Given the description of an element on the screen output the (x, y) to click on. 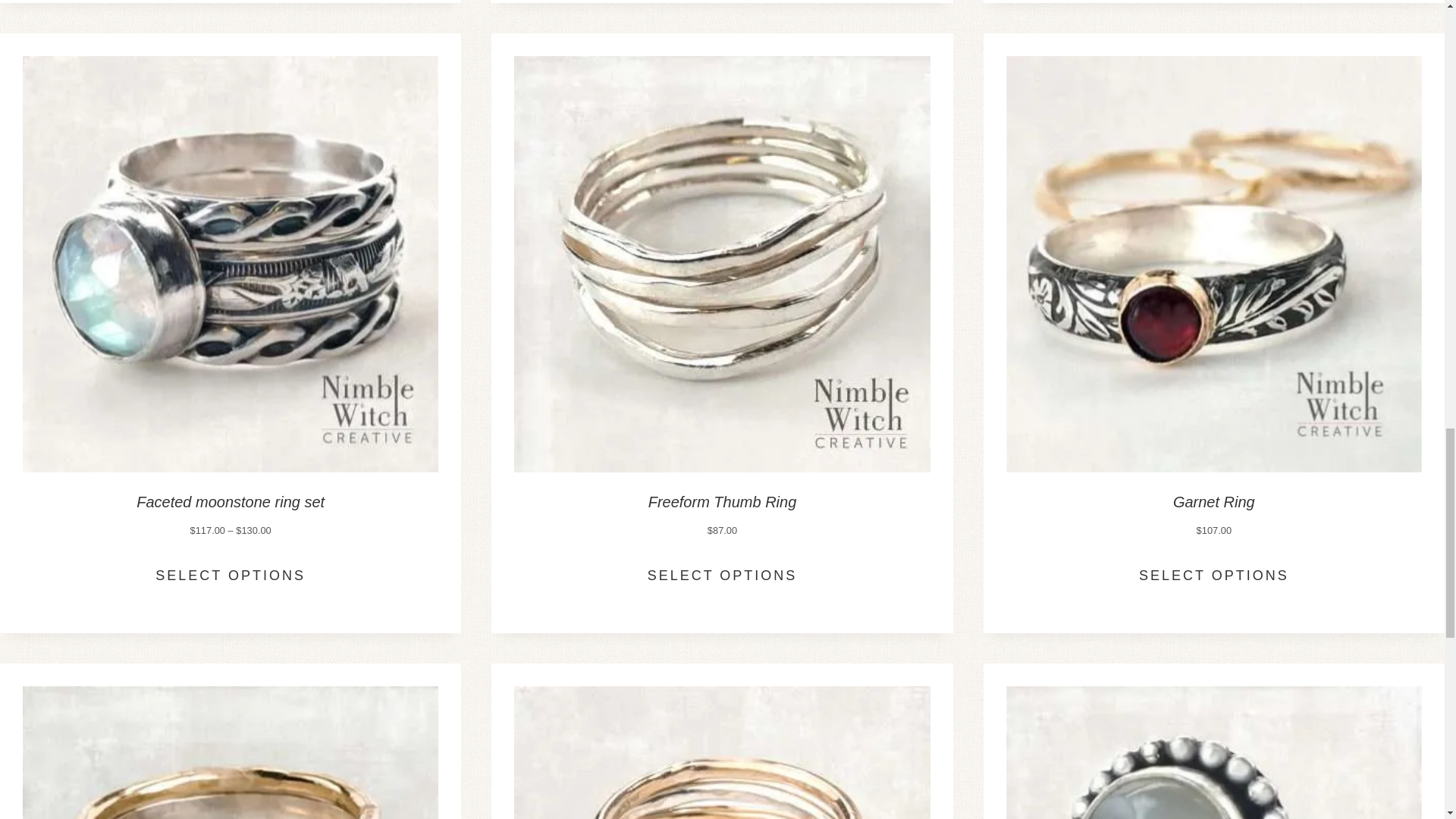
SELECT OPTIONS (230, 575)
new-moonface-ring-4 (1214, 752)
Faceted moonstone ring set (230, 501)
garnet-ringset-E (230, 752)
mix-metal-stack-rings-6 (721, 752)
